Given the description of an element on the screen output the (x, y) to click on. 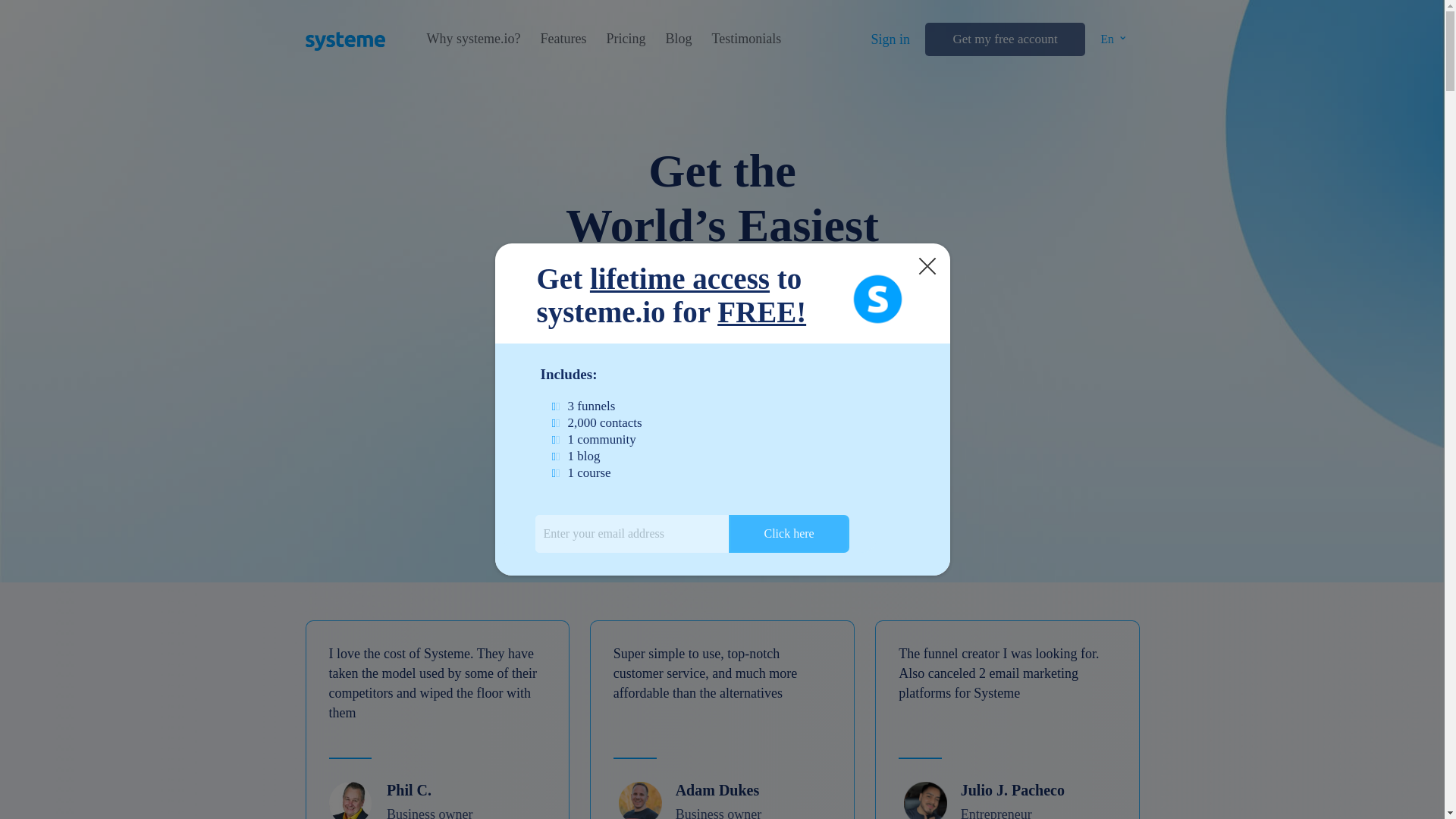
Testimonials (745, 38)
Why systeme.io? (472, 38)
Pricing (625, 38)
Sign in (890, 39)
Blog (678, 38)
Get my free account (1004, 39)
Features (563, 38)
